Given the description of an element on the screen output the (x, y) to click on. 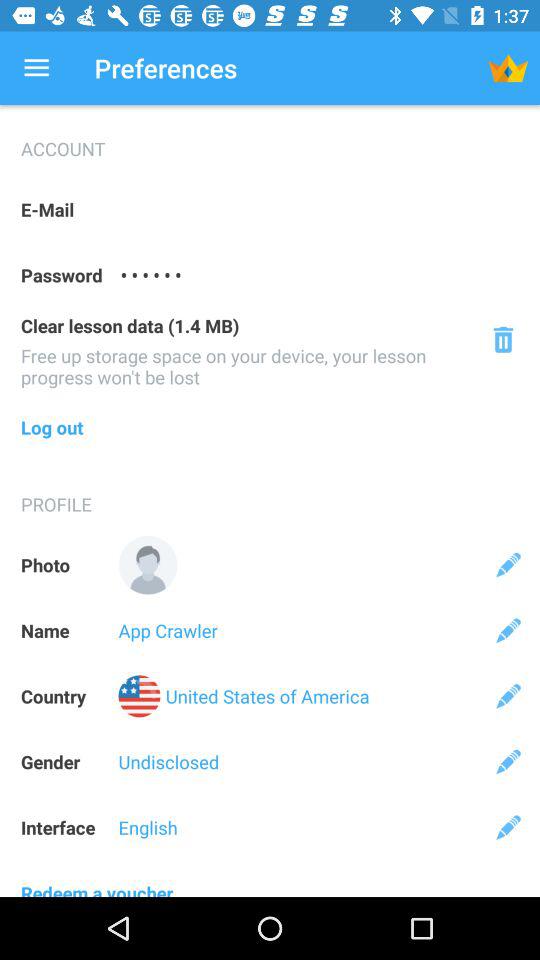
edit interface (508, 827)
